Given the description of an element on the screen output the (x, y) to click on. 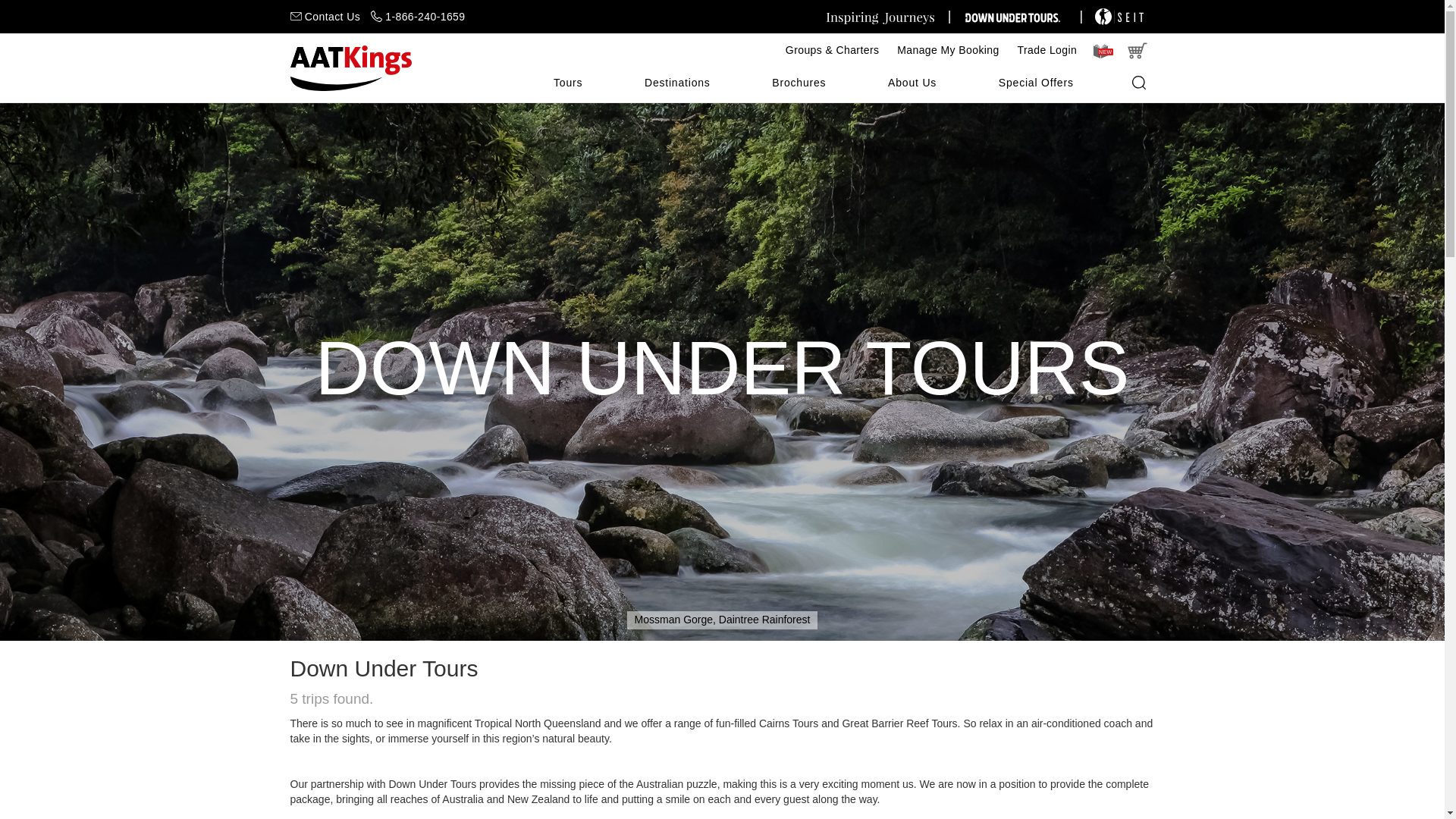
1-866-240-1659 (418, 16)
Manage My Booking (947, 49)
Contact Us (324, 16)
Tours (567, 83)
Trade Login (1047, 49)
